Given the description of an element on the screen output the (x, y) to click on. 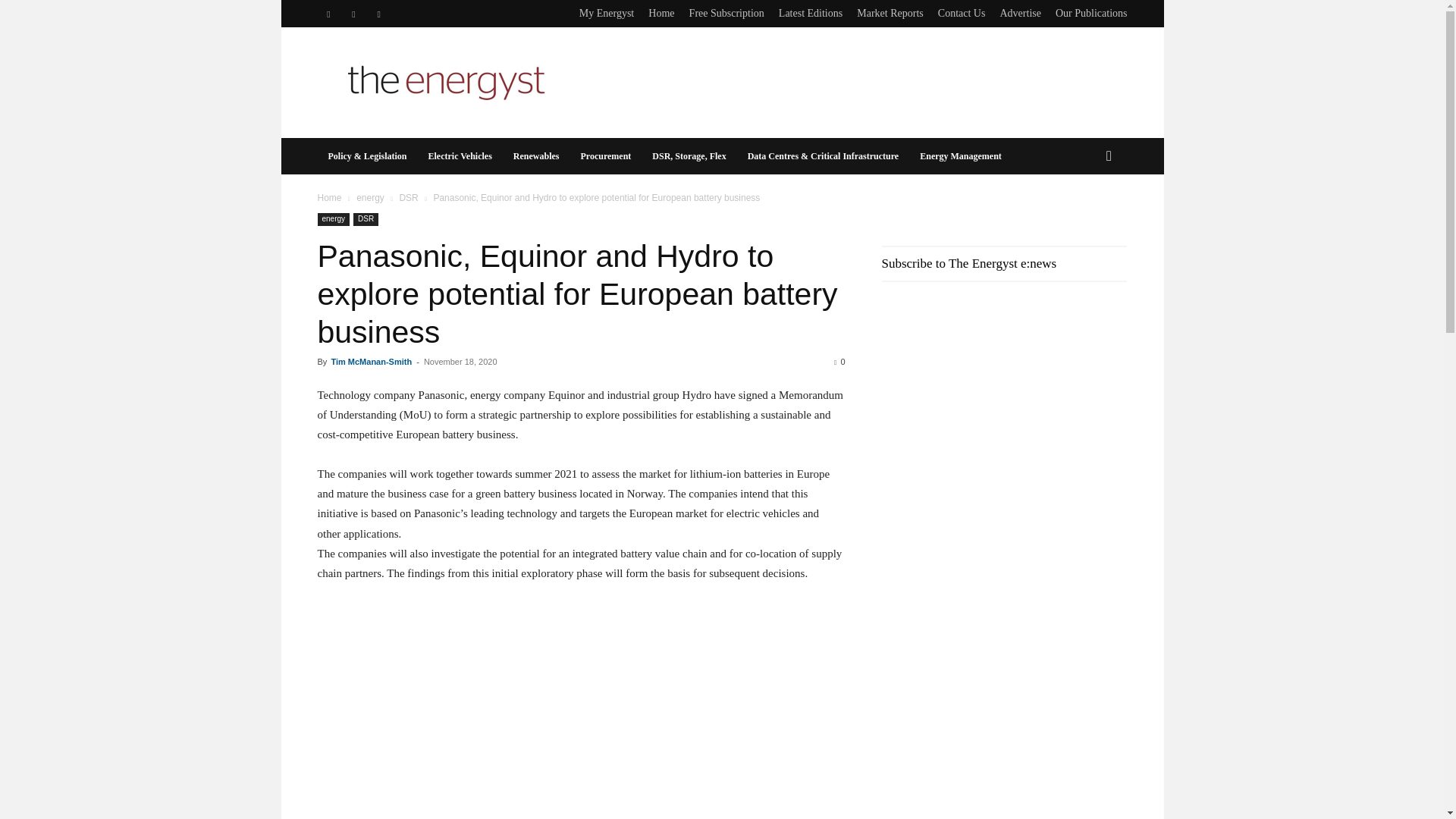
Youtube (379, 13)
View all posts in energy (370, 197)
Electric Vehicles (459, 156)
Contact Us (961, 12)
Linkedin (328, 13)
Twitter (353, 13)
Advertise (1019, 12)
Free Subscription (726, 12)
Energy Management (959, 156)
Renewables (536, 156)
View all posts in DSR (407, 197)
My Energyst (606, 12)
Latest Editions (810, 12)
Search (1085, 216)
Procurement (605, 156)
